Given the description of an element on the screen output the (x, y) to click on. 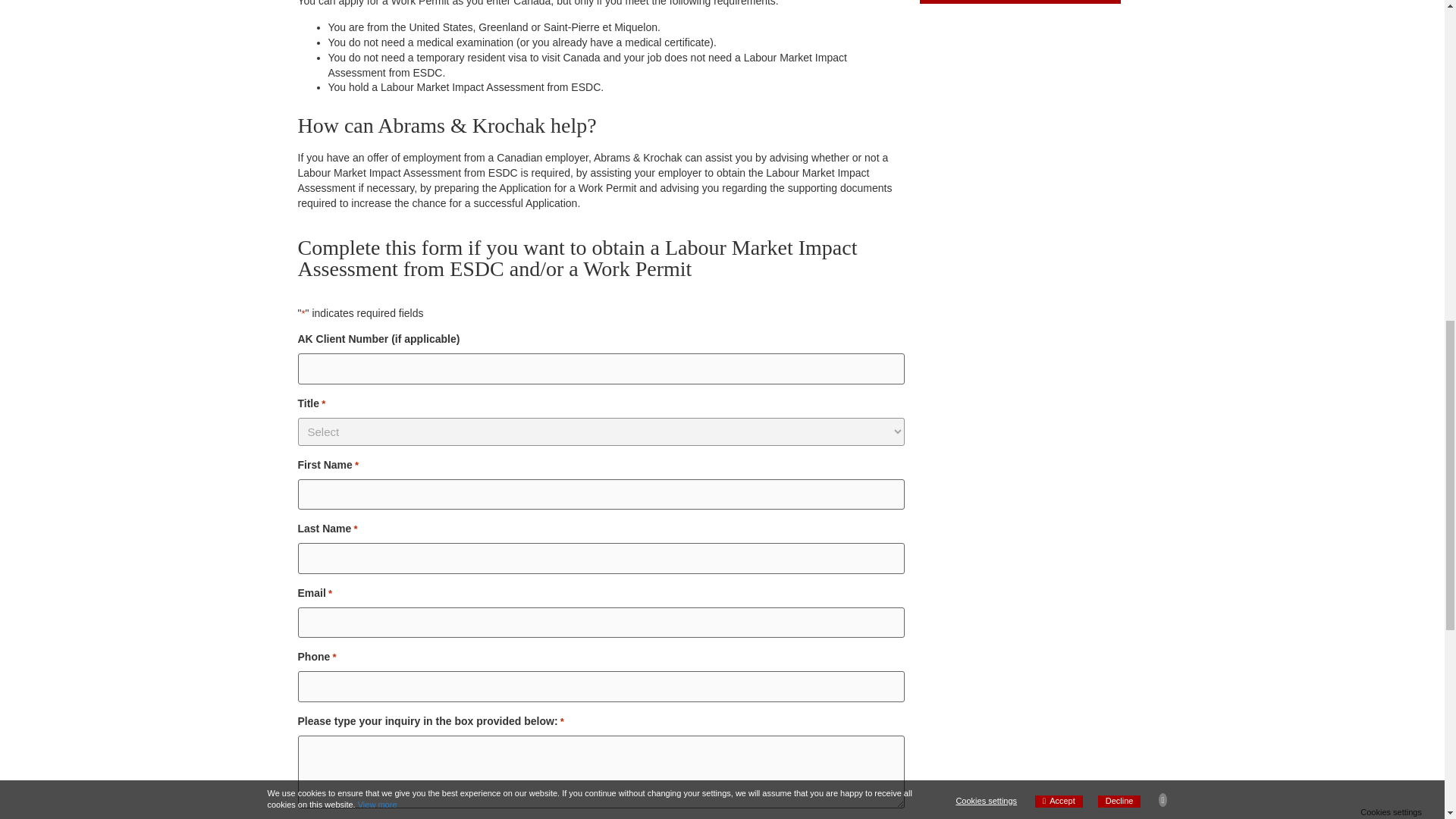
Business Start-Up Visa (1020, 2)
